Given the description of an element on the screen output the (x, y) to click on. 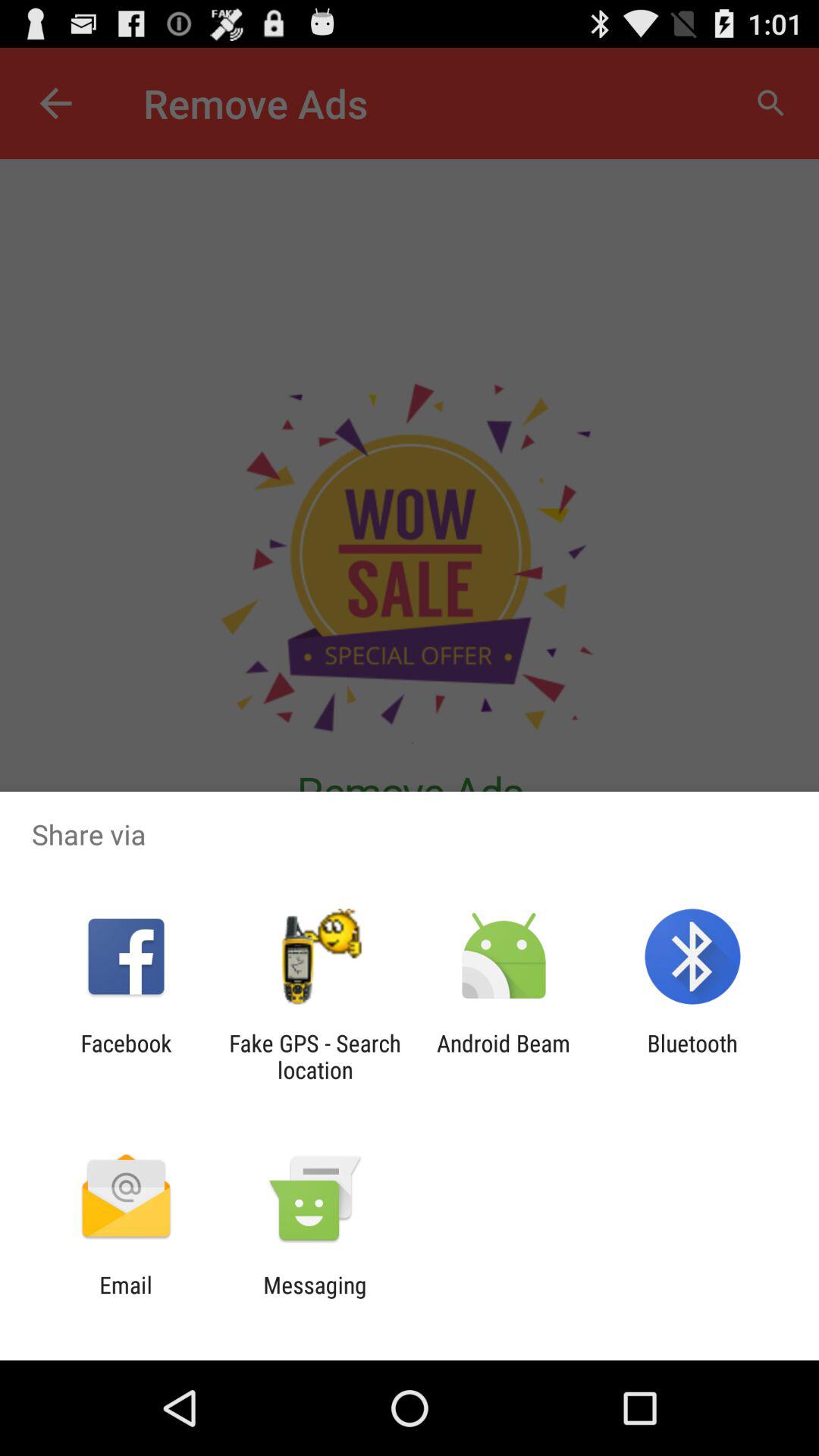
launch facebook app (125, 1056)
